Given the description of an element on the screen output the (x, y) to click on. 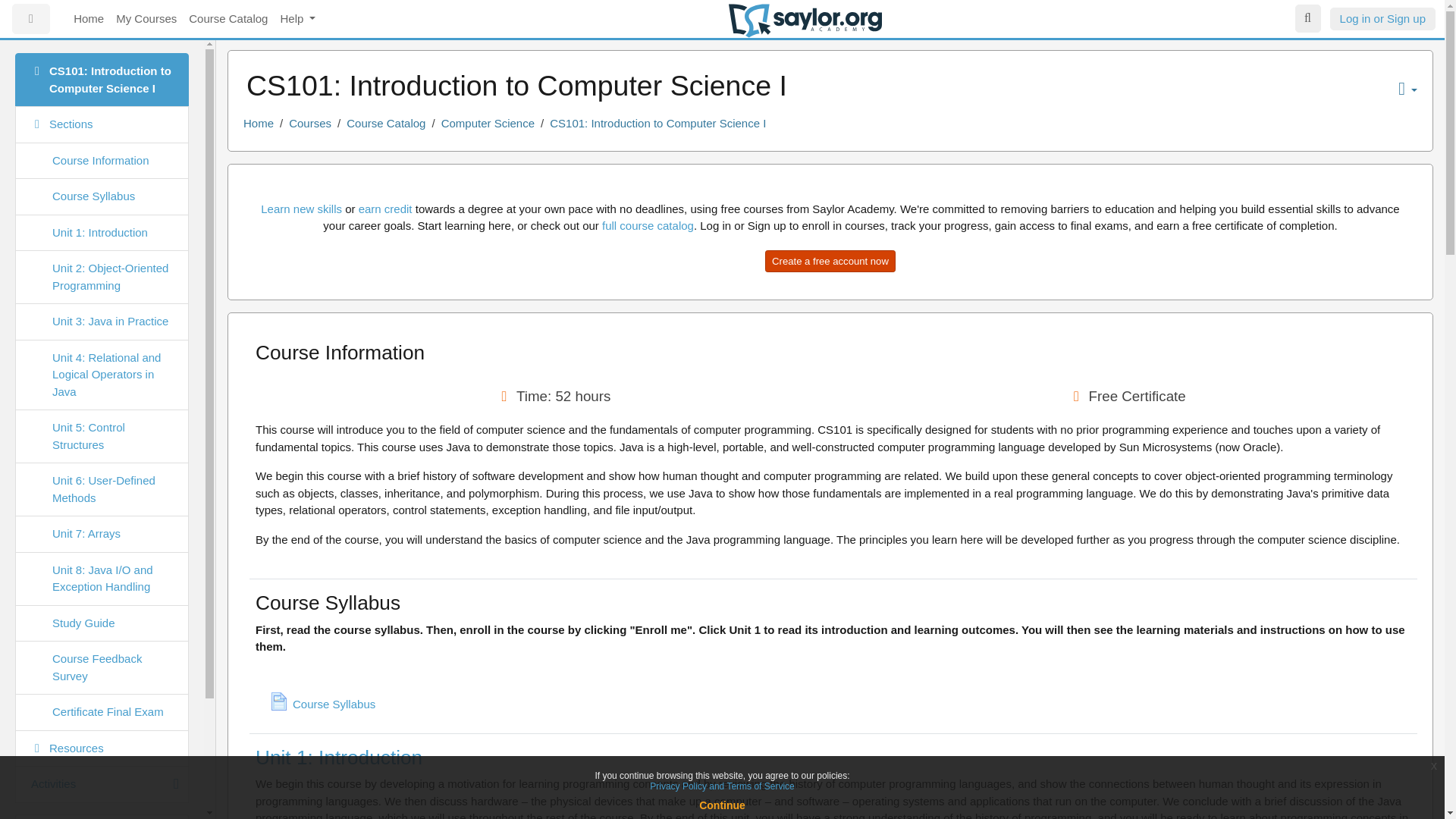
Course Feedback Survey (101, 667)
Home (101, 816)
Unit 2: Object-Oriented Programming (101, 276)
Unit 4: Relational and Logical Operators in Java (101, 375)
Course Information (101, 160)
Unit 3: Java in Practice (101, 321)
Home (88, 19)
CS101: Introduction to Computer Science I (101, 80)
Course Catalog (228, 19)
Course Syllabus (101, 196)
